Given the description of an element on the screen output the (x, y) to click on. 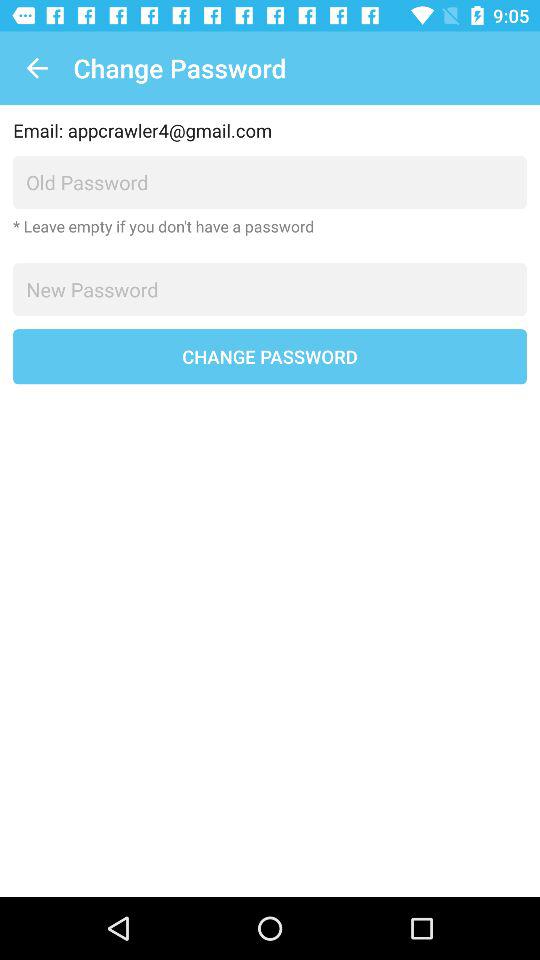
type old password (269, 182)
